Given the description of an element on the screen output the (x, y) to click on. 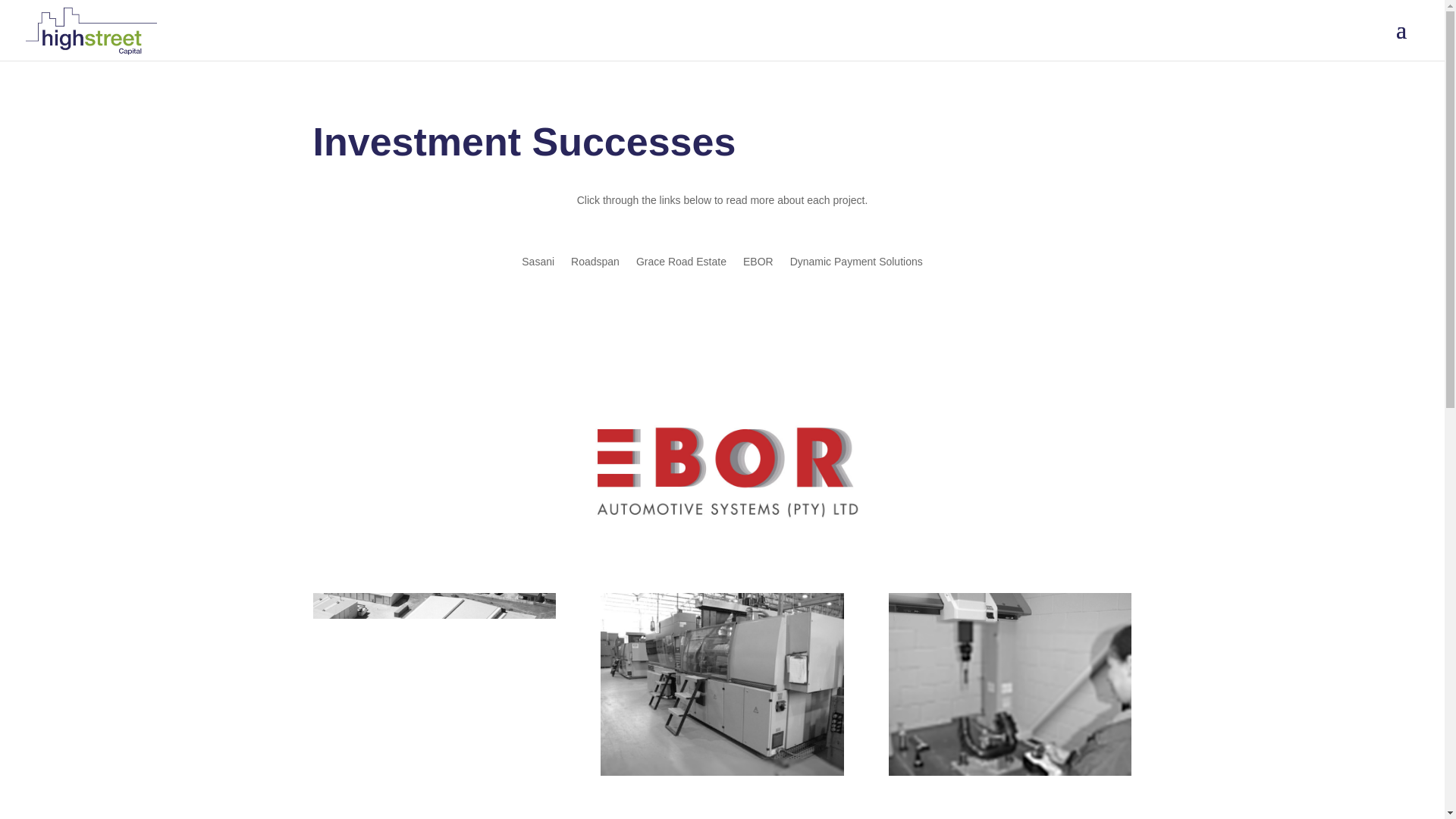
EBOR3 (1009, 683)
Dynamic Payment Solutions (856, 264)
EBOR (722, 473)
Sasani (537, 264)
EBOR1 (433, 683)
Grace Road Estate (681, 264)
EBOR2 (721, 683)
EBOR (757, 264)
Roadspan (595, 264)
